Given the description of an element on the screen output the (x, y) to click on. 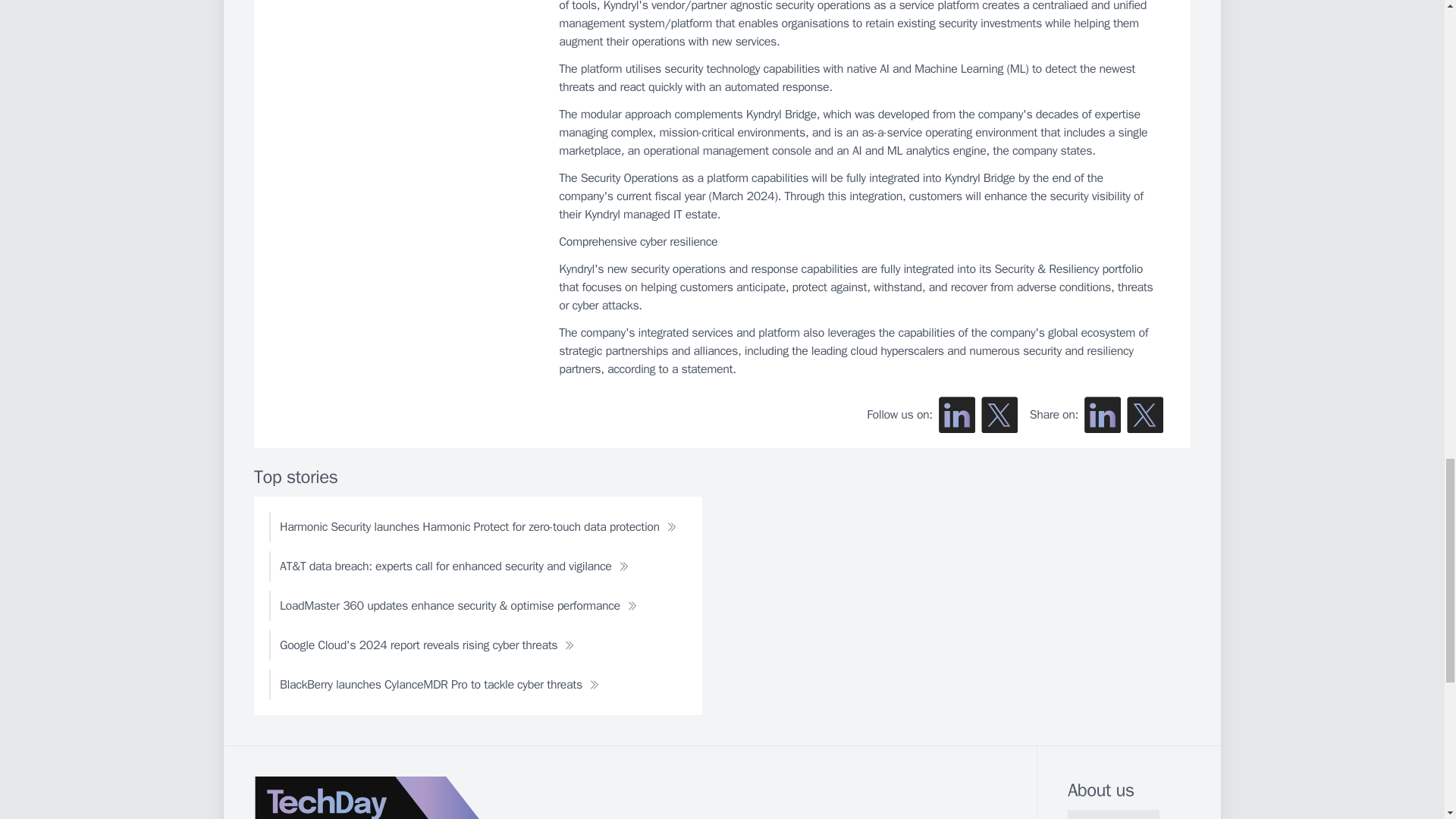
Google Cloud's 2024 report reveals rising cyber threats (427, 644)
BlackBerry launches CylanceMDR Pro to tackle cyber threats (439, 684)
